Given the description of an element on the screen output the (x, y) to click on. 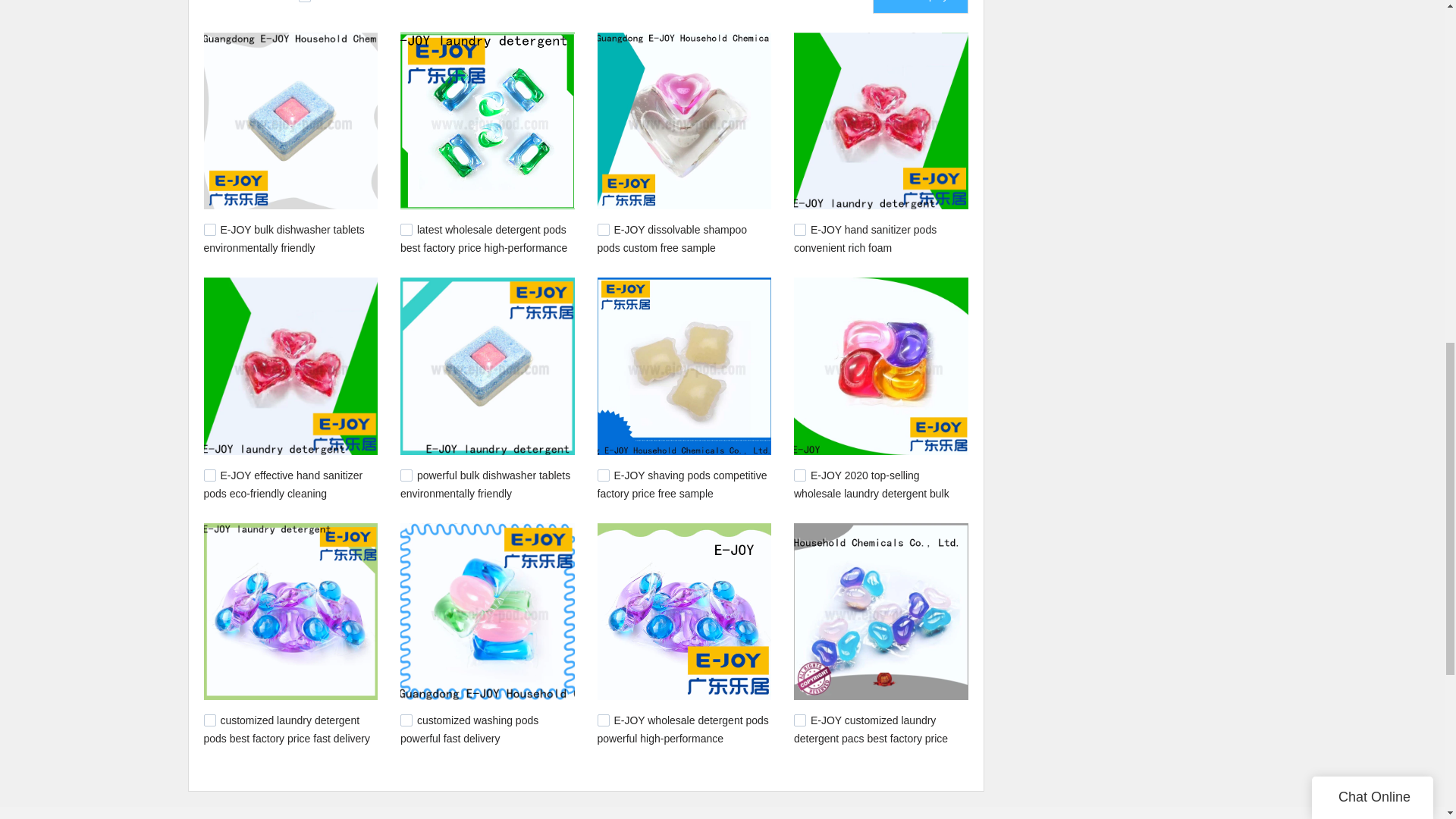
2716 (603, 229)
E-JOY wholesale detergent pods powerful high-performance (682, 729)
E-JOY effective hand sanitizer pods eco-friendly cleaning (282, 484)
E-JOY dissolvable shampoo pods custom free sample (672, 238)
customized washing pods powerful fast delivery (469, 729)
2520 (209, 720)
2558 (799, 475)
2505 (406, 720)
E-JOY shaving pods competitive factory price free sample (681, 484)
2717 (799, 229)
2683 (406, 475)
2827 (209, 229)
